Given the description of an element on the screen output the (x, y) to click on. 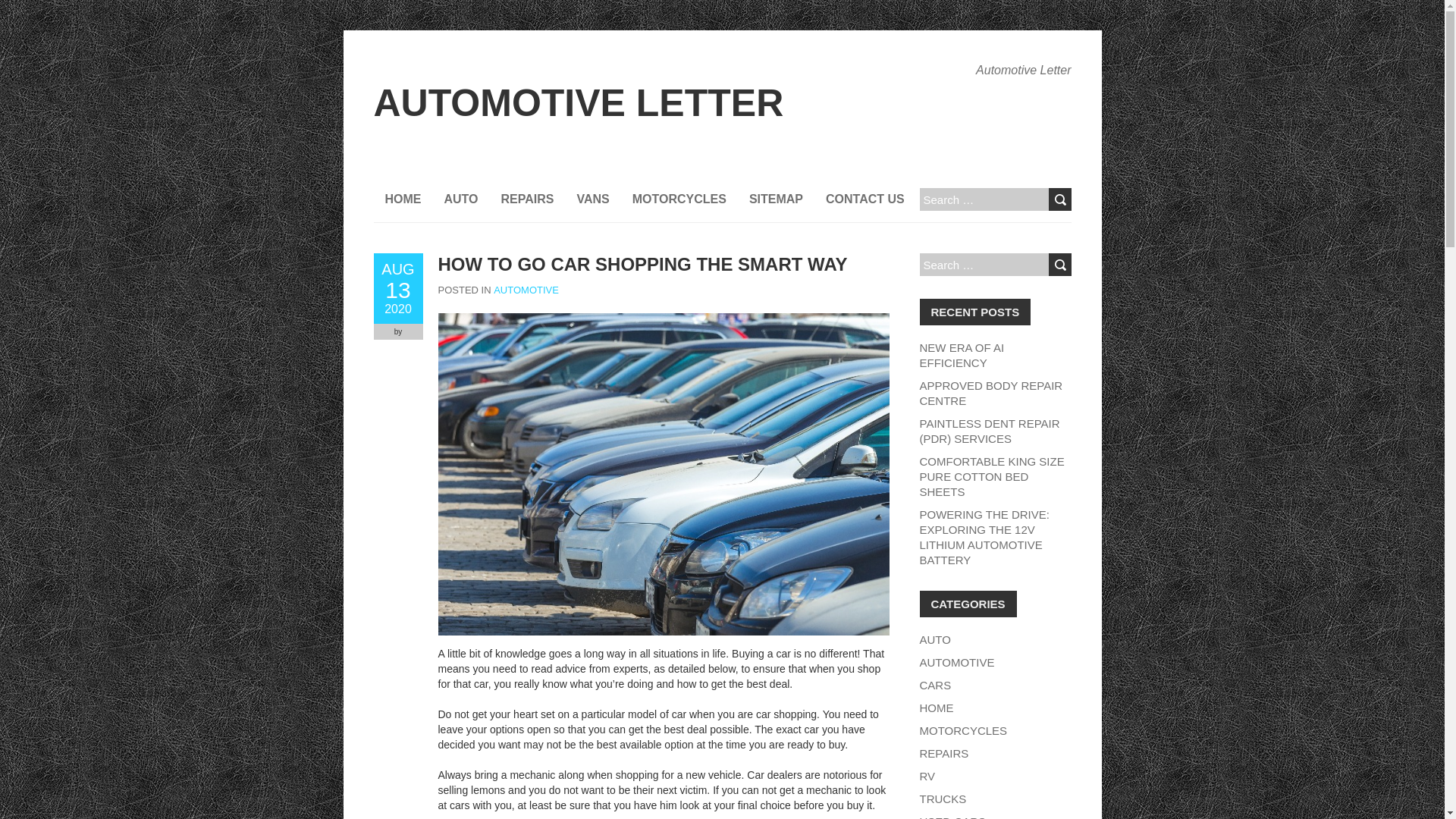
SITEMAP (775, 198)
How To Go Car Shopping The Smart Way (397, 288)
AUTO (934, 639)
REPAIRS (527, 198)
MOTORCYCLES (962, 730)
HOME (935, 707)
AUTOMOTIVE (526, 289)
AUTOMOTIVE (956, 662)
APPROVED BODY REPAIR CENTRE (990, 393)
